Given the description of an element on the screen output the (x, y) to click on. 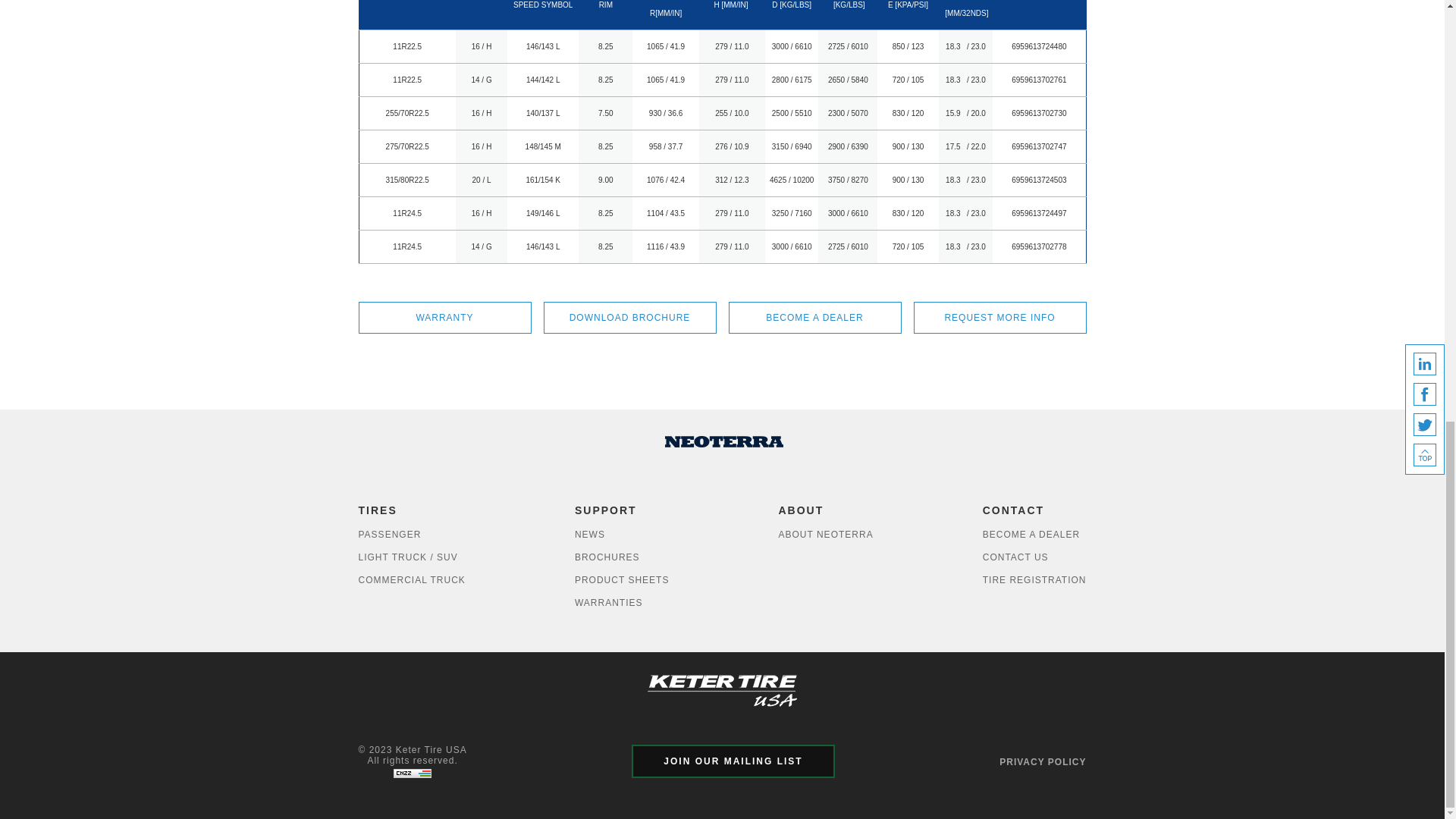
PASSENGER (411, 534)
DOWNLOAD BROCHURE (629, 317)
REQUEST MORE INFO (999, 317)
COMMERCIAL TRUCK (411, 579)
NEWS (621, 534)
BROCHURES (621, 557)
WARRANTY (444, 317)
BECOME A DEALER (814, 317)
